Given the description of an element on the screen output the (x, y) to click on. 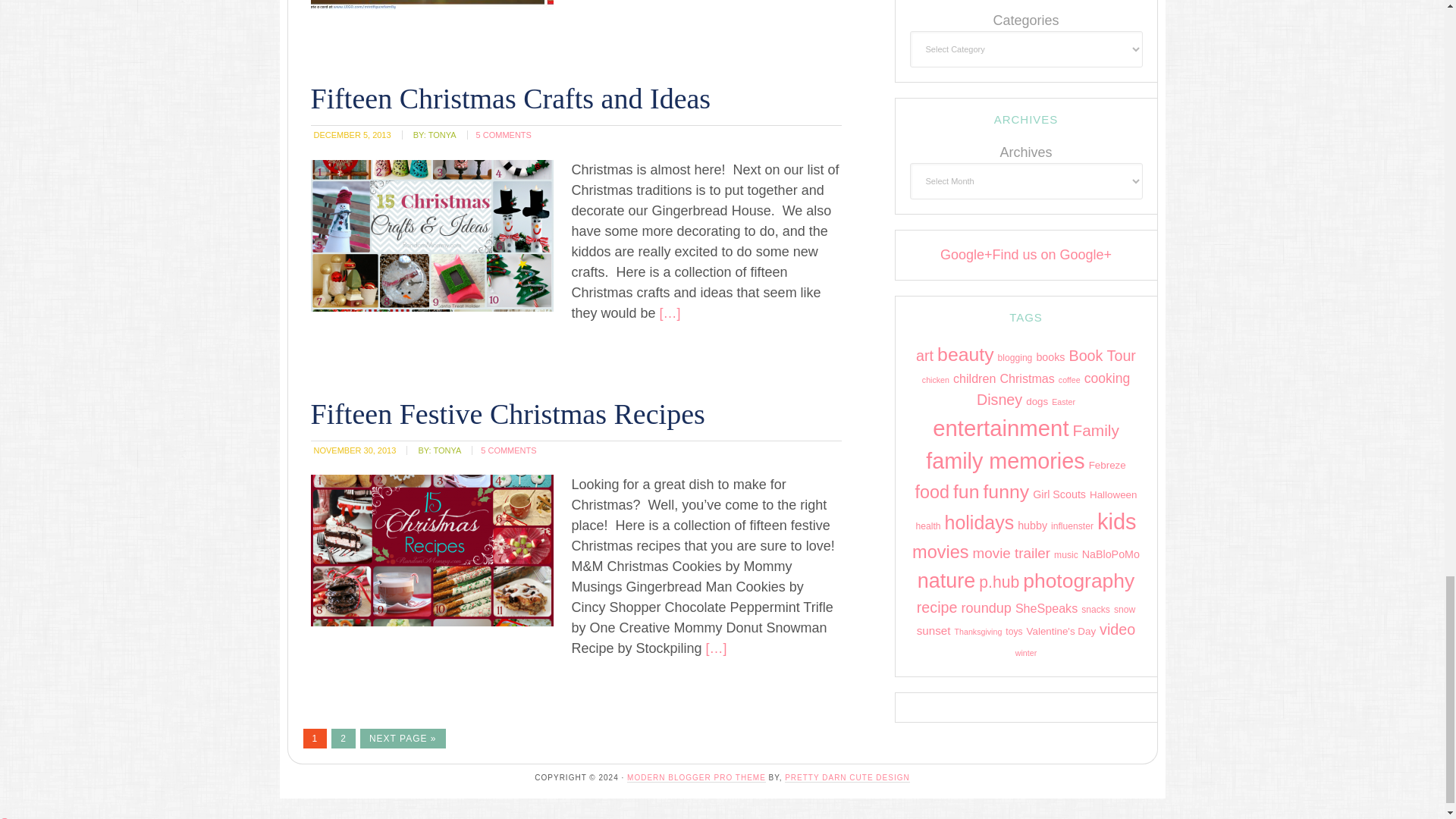
Fifteen Christmas Crafts and Ideas (511, 98)
5 COMMENTS (503, 134)
5 COMMENTS (507, 450)
Fifteen Festive Christmas Recipes (507, 413)
